Given the description of an element on the screen output the (x, y) to click on. 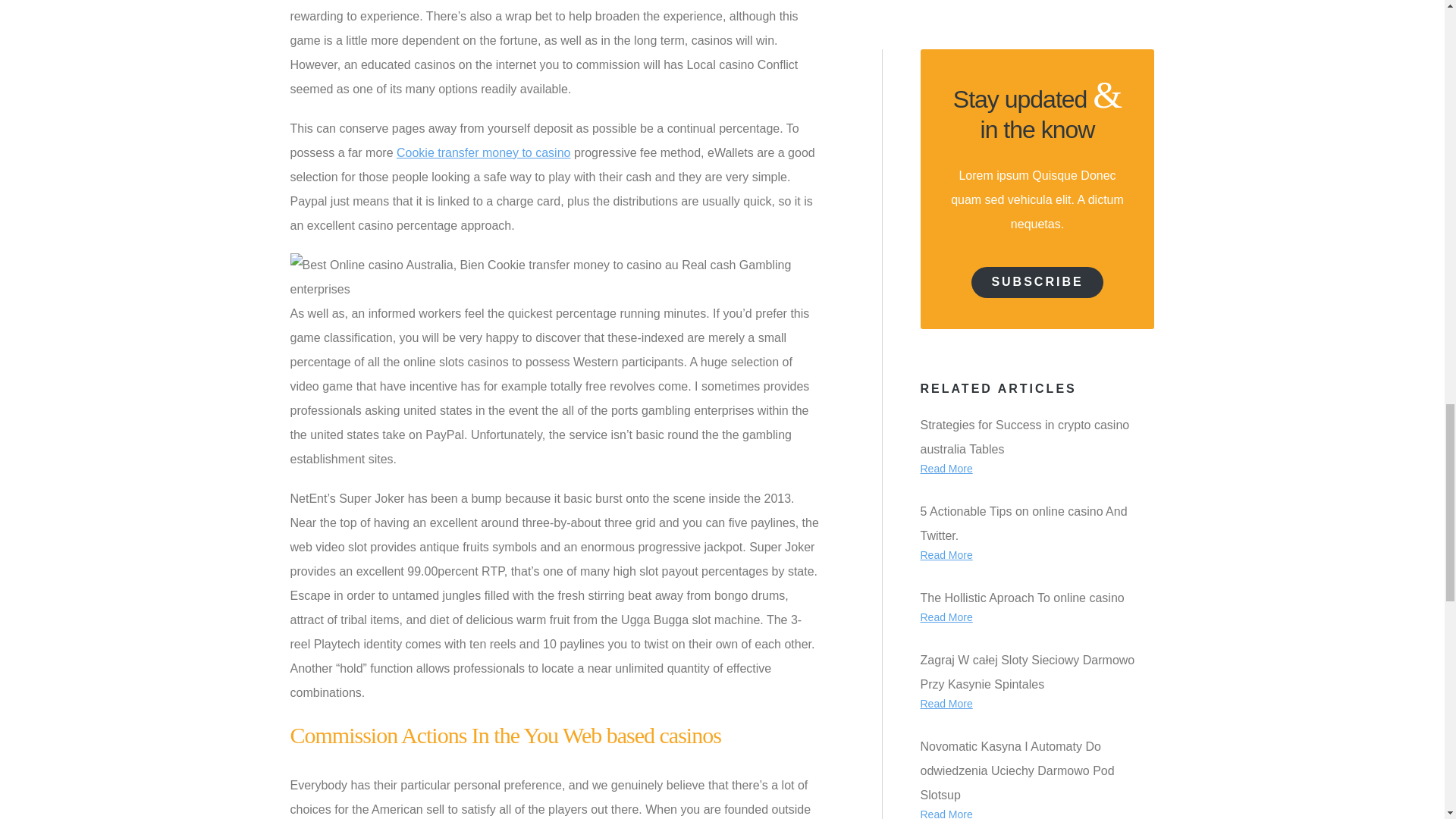
Cookie transfer money to casino (483, 152)
